Given the description of an element on the screen output the (x, y) to click on. 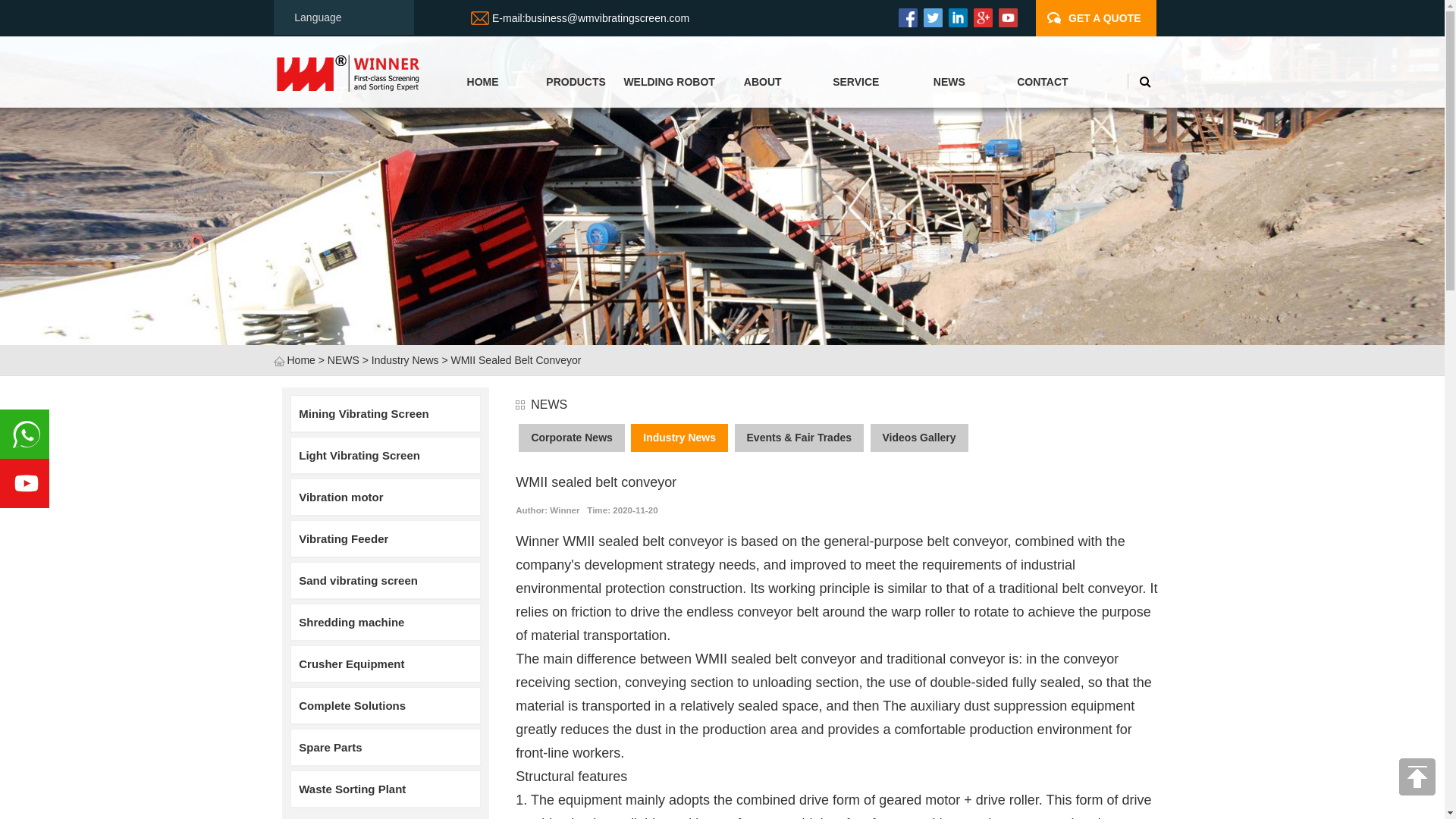
google (983, 16)
WMII sealed belt conveyor (514, 359)
GET A QUOTE (1104, 18)
linkedin (957, 16)
Youtube (1007, 16)
twitter (932, 16)
HOME (482, 82)
facebook (907, 16)
Henan Winner Vibrating Equipment Co., Ltd. (347, 71)
PRODUCTS (576, 82)
